Given the description of an element on the screen output the (x, y) to click on. 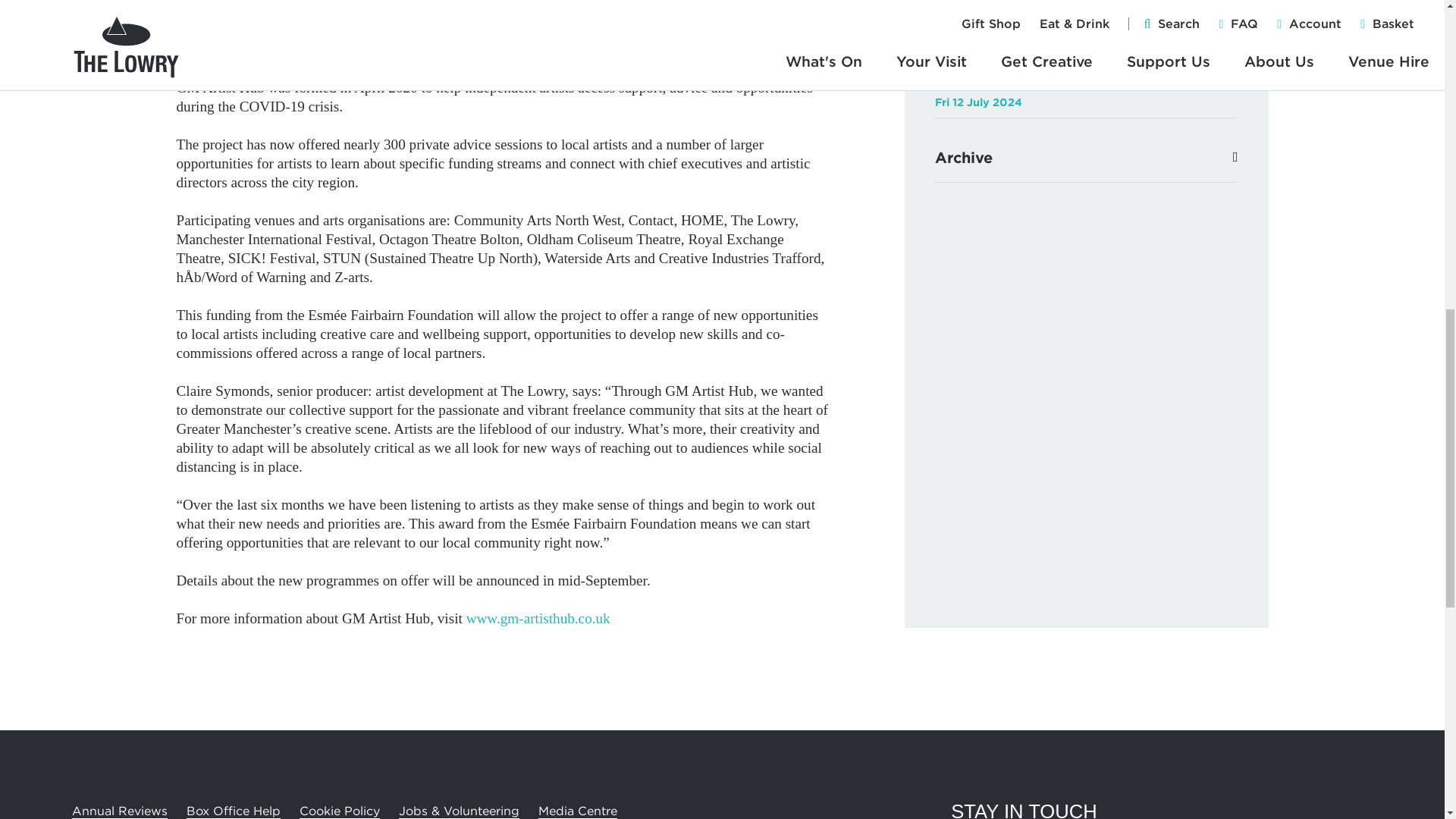
www.gm-artisthub.co.uk (537, 618)
